Given the description of an element on the screen output the (x, y) to click on. 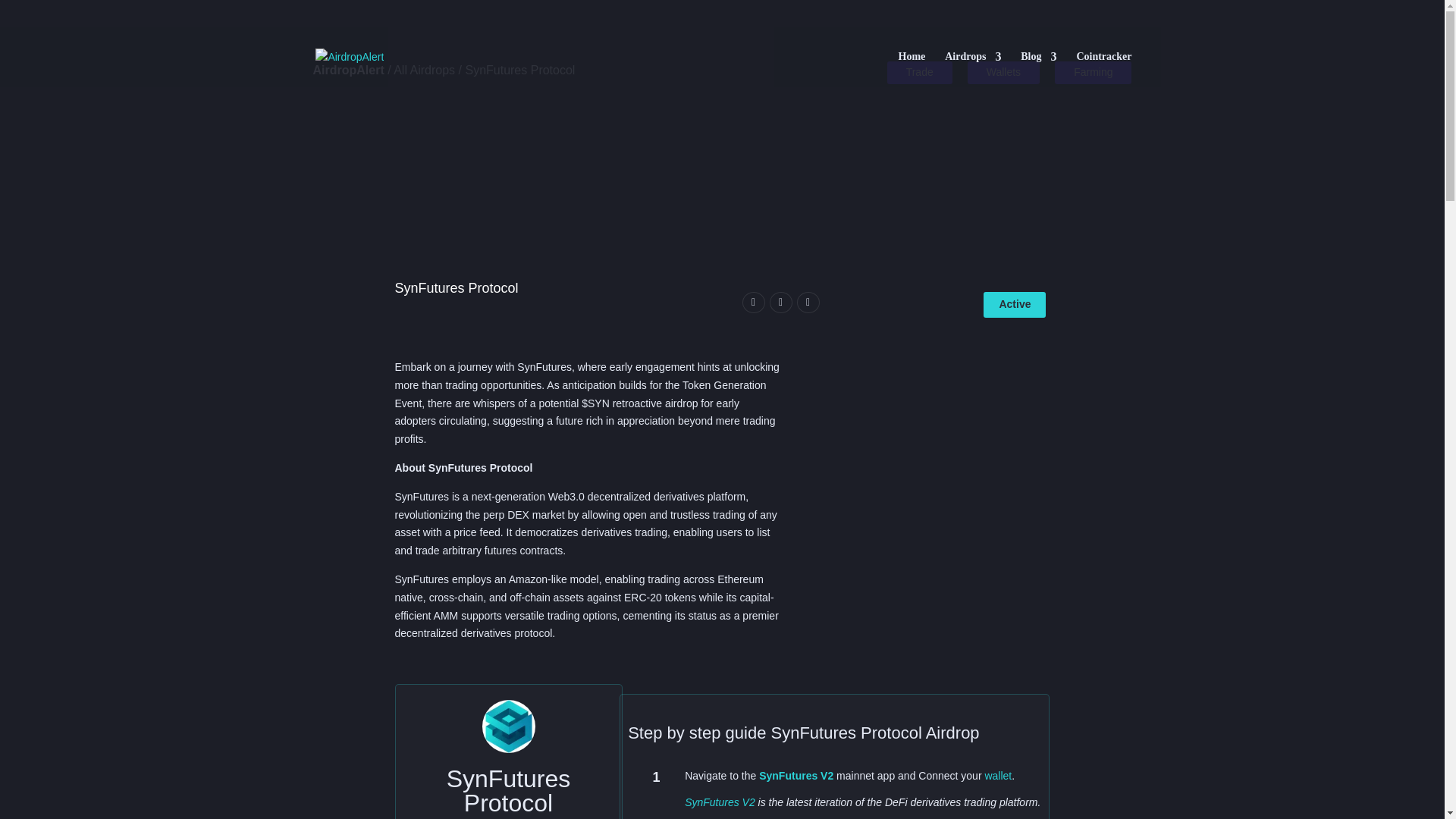
Blog (1038, 68)
Wallets (1003, 72)
SynFutures V2 (795, 775)
Airdrops (972, 68)
SynFutures V2 (719, 802)
Cointracker (1103, 68)
wallet (997, 775)
AirdropAlert (348, 69)
All Airdrops (423, 69)
Trade (919, 72)
Farming (1092, 72)
